Given the description of an element on the screen output the (x, y) to click on. 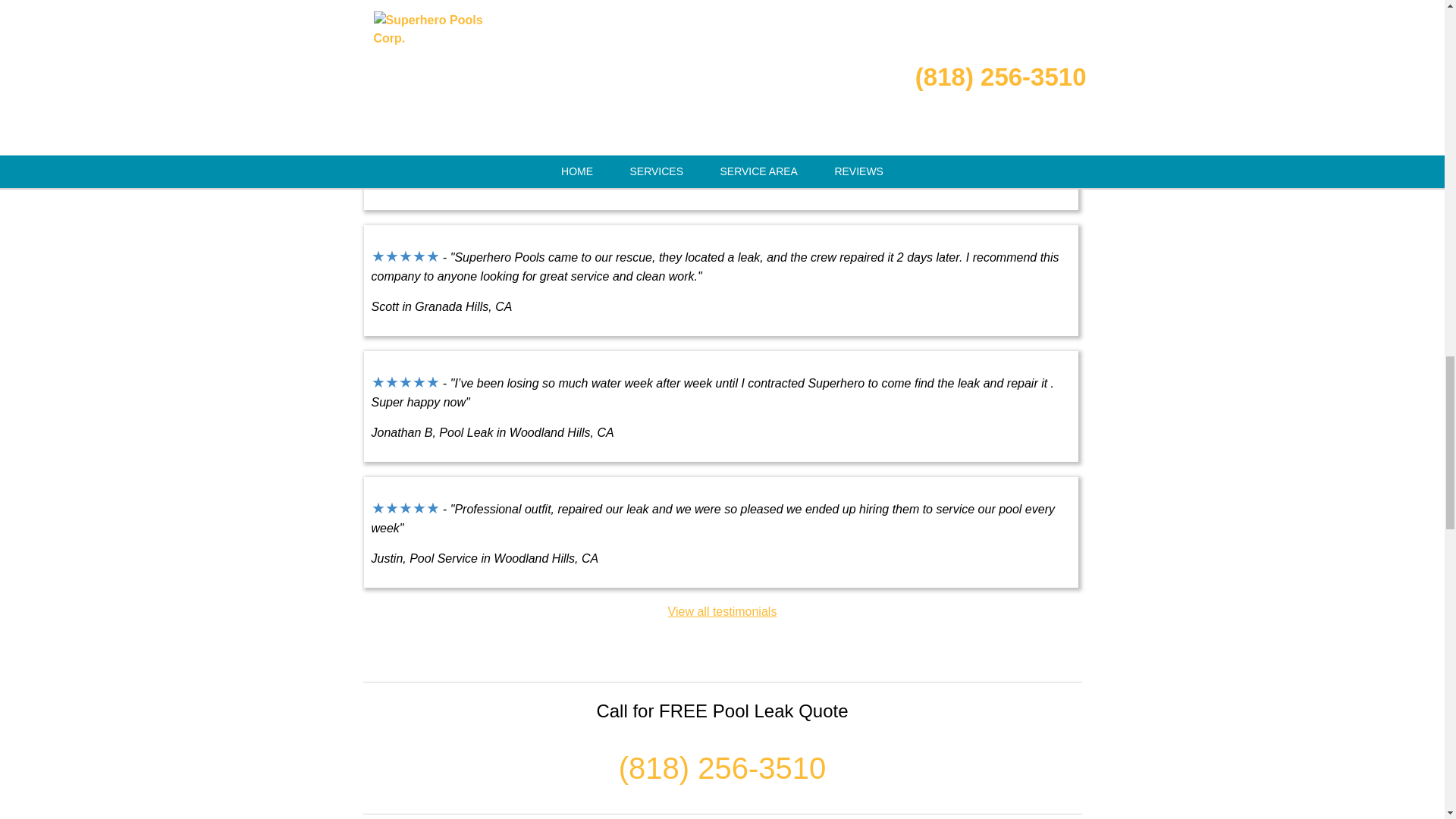
View all testimonials (722, 611)
